Given the description of an element on the screen output the (x, y) to click on. 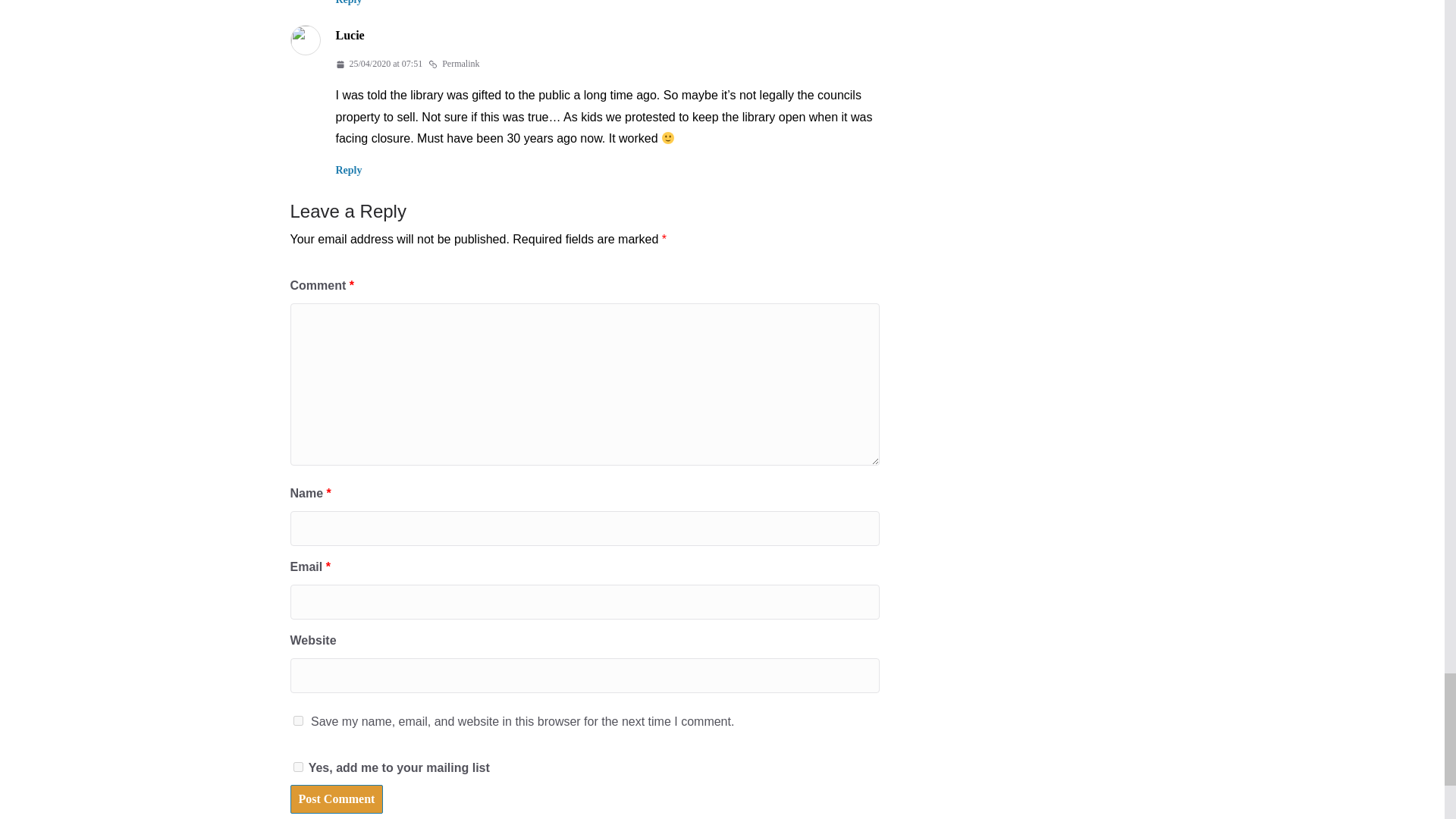
Post Comment (335, 799)
1 (297, 767)
yes (297, 720)
